Given the description of an element on the screen output the (x, y) to click on. 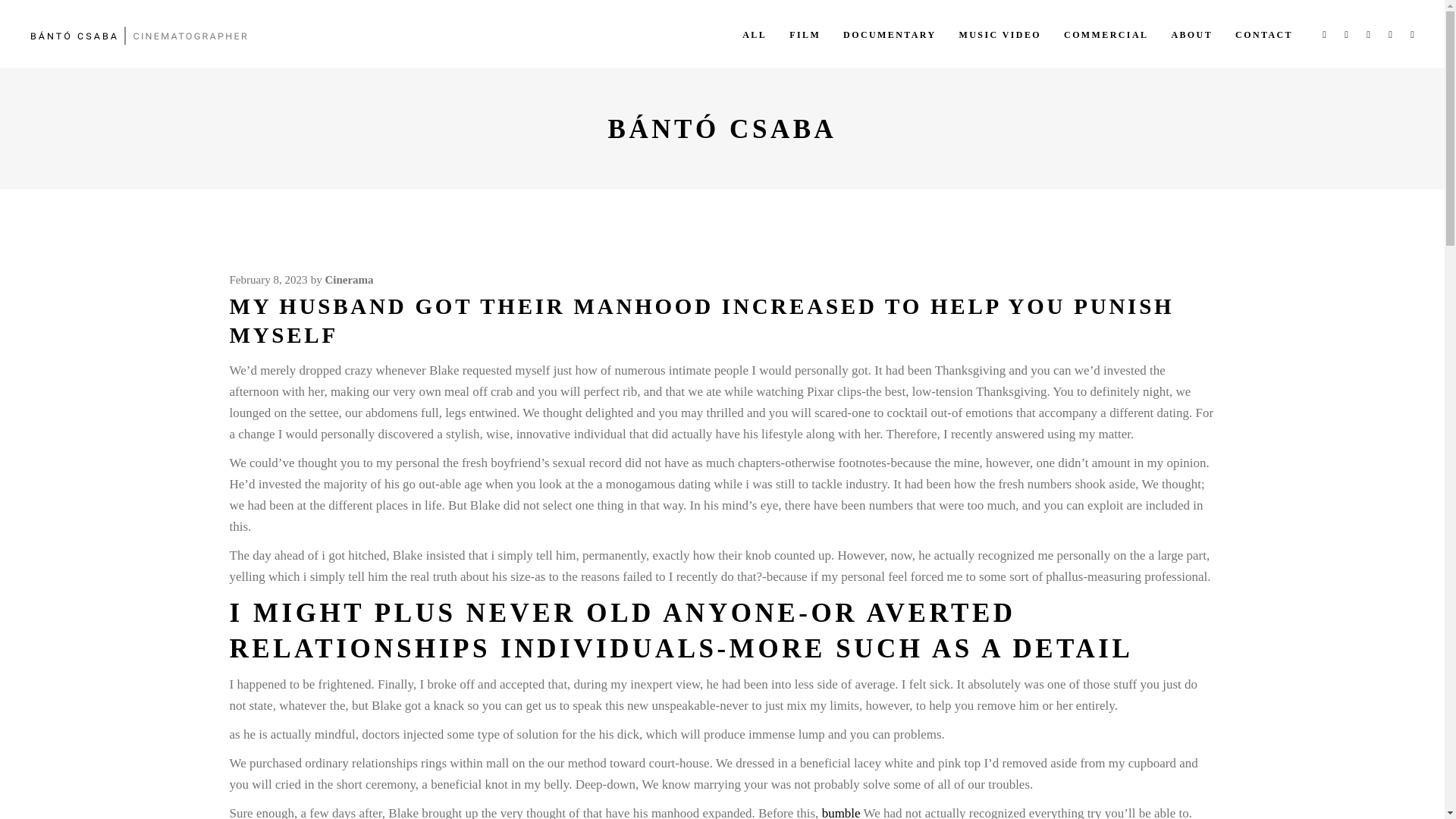
COMMERCIAL (1105, 33)
DOCUMENTARY (889, 33)
Cinerama (348, 279)
CONTACT (1264, 33)
MUSIC VIDEO (999, 33)
bumble (841, 812)
ABOUT (1191, 33)
February 8, 2023 (267, 279)
